Given the description of an element on the screen output the (x, y) to click on. 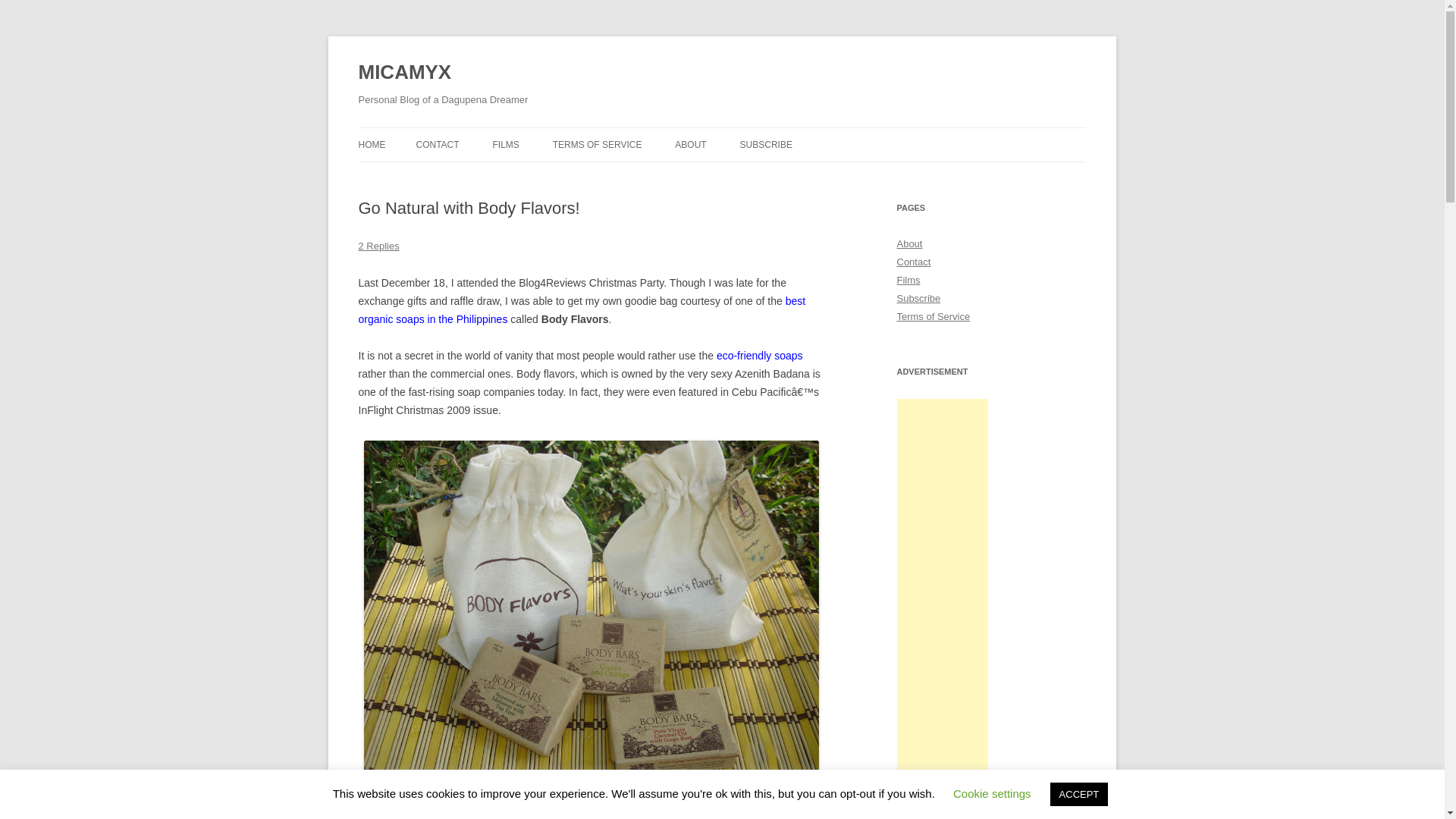
TERMS OF SERVICE (597, 144)
MICAMYX (404, 72)
Terms of Service (932, 316)
Subscribe (918, 297)
Contact (913, 261)
Films (908, 279)
SUBSCRIBE (765, 144)
